Given the description of an element on the screen output the (x, y) to click on. 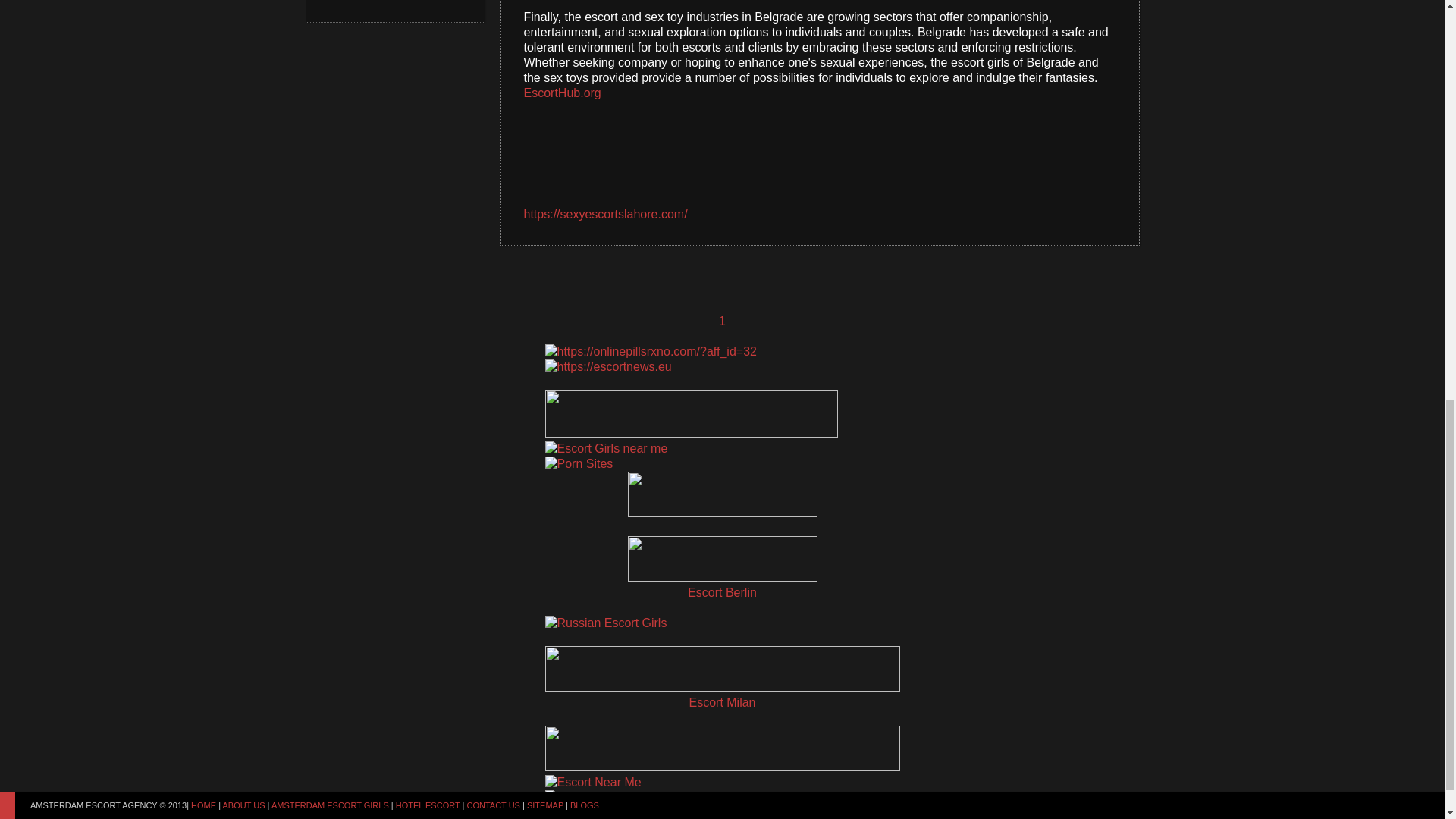
Escort Milan (721, 702)
Escort Berlin (721, 592)
1 (721, 321)
EscortHub.org (560, 92)
